Given the description of an element on the screen output the (x, y) to click on. 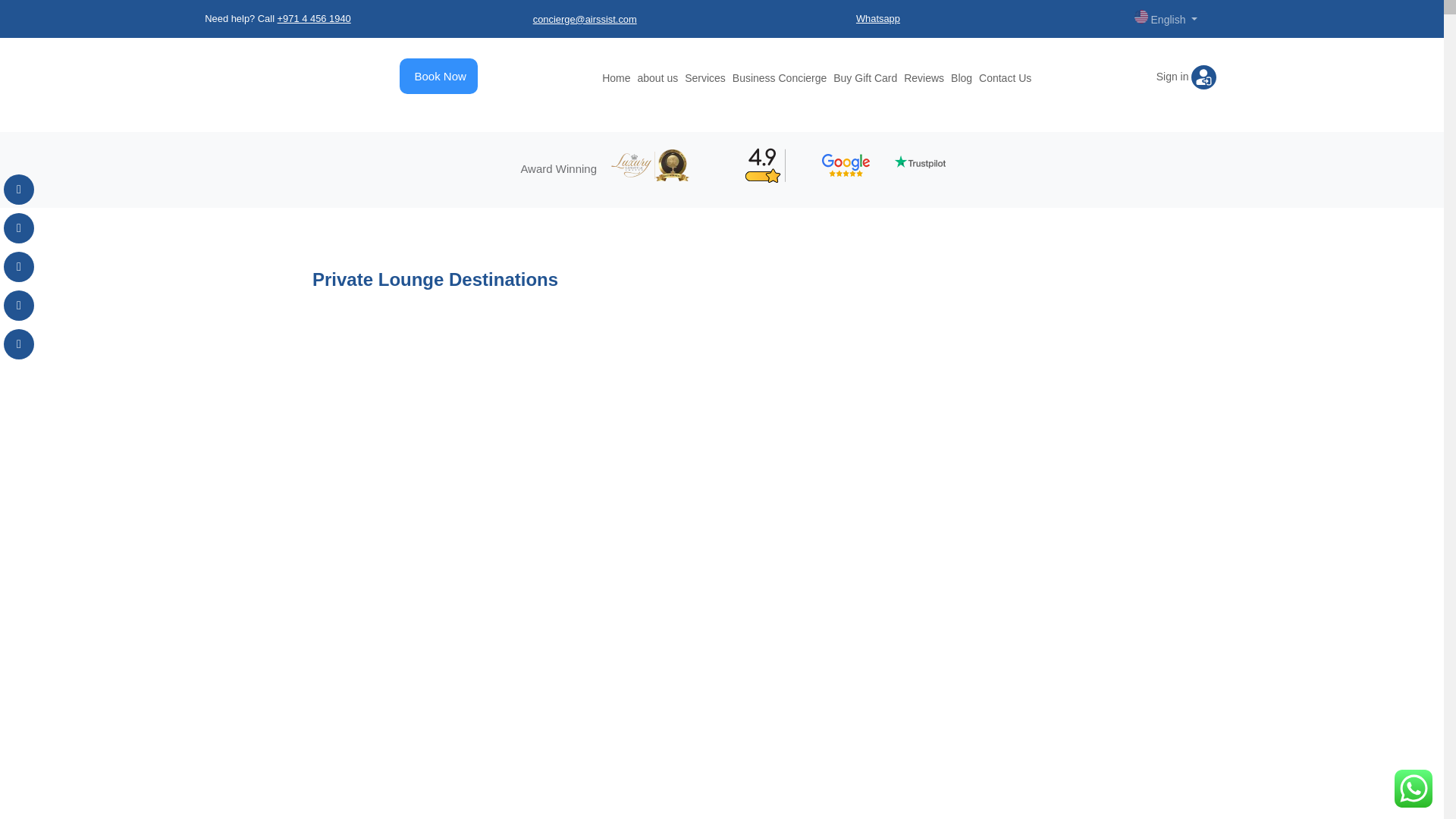
Services (704, 78)
English (1166, 18)
Blog (961, 78)
Business Concierge (779, 78)
Whatsapp (877, 18)
about us (657, 78)
Reviews (923, 78)
Home (616, 78)
Buy Gift Card (864, 78)
Contact Us (1004, 78)
Book Now (439, 75)
